Given the description of an element on the screen output the (x, y) to click on. 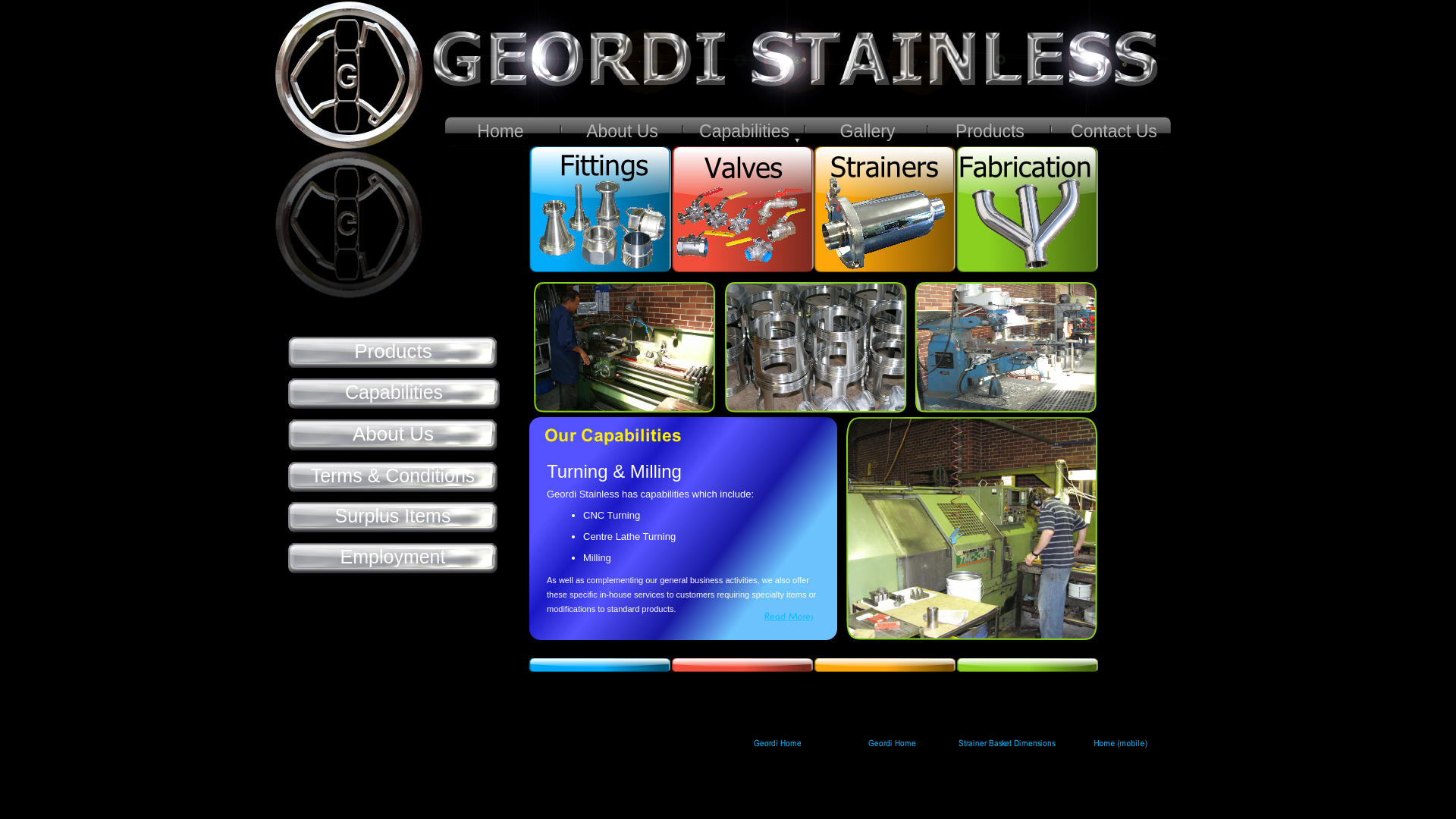
About Us Element type: text (392, 436)
Capabilities Element type: text (744, 131)
Capabilities Element type: text (393, 394)
Products Element type: text (989, 131)
About Us Element type: text (621, 131)
Terms & Conditions Element type: text (392, 478)
Gallery Element type: text (867, 131)
Employment Element type: text (392, 559)
Home Element type: text (500, 131)
Surplus Items Element type: text (392, 518)
Products Element type: text (392, 353)
Contact Us Element type: text (1113, 131)
